Given the description of an element on the screen output the (x, y) to click on. 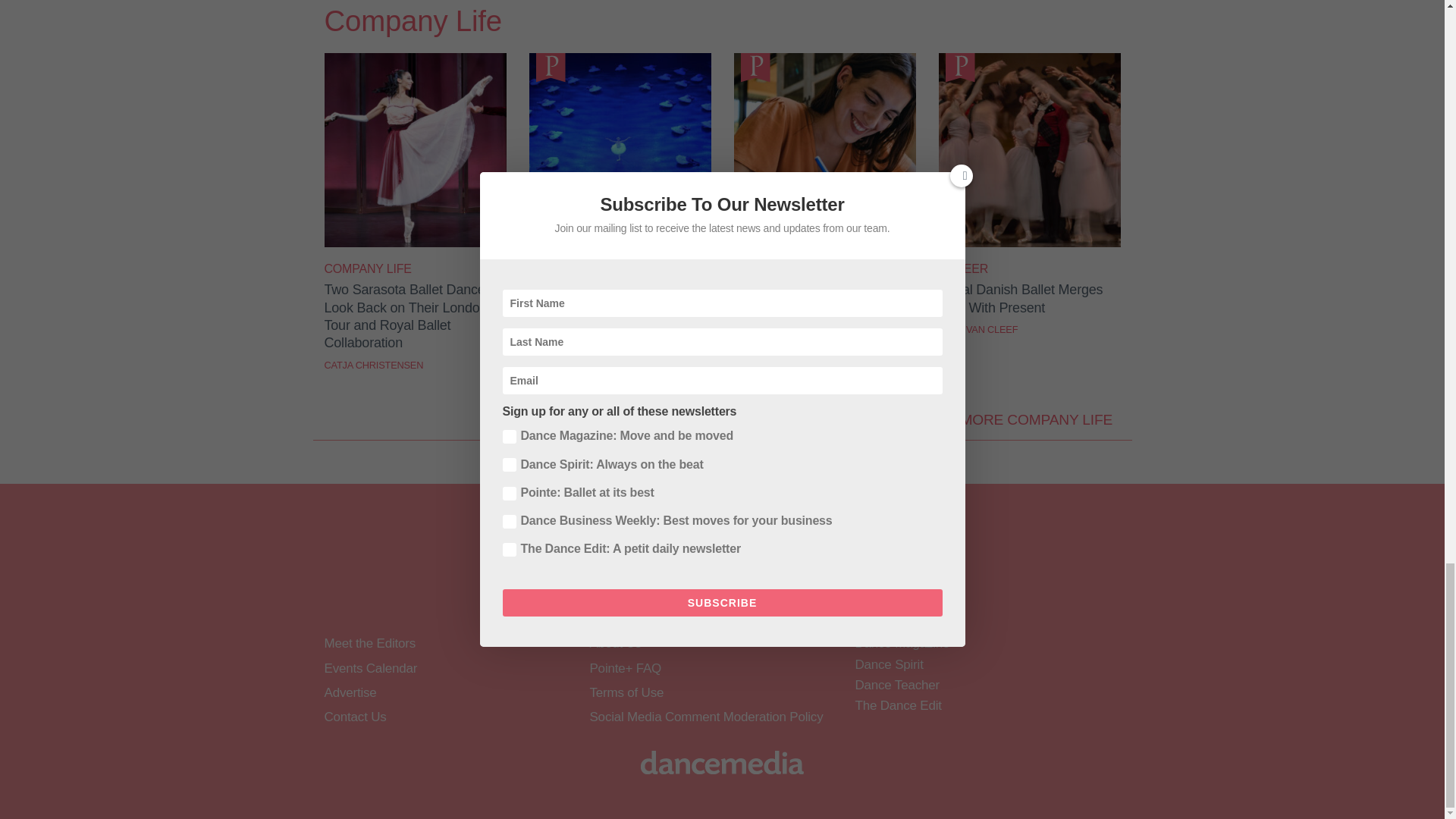
Follow on Youtube (741, 600)
Follow on Twitter (662, 600)
Follow on Facebook (623, 600)
Royal Danish Ballet Merges Past With Present (1030, 242)
Follow on Pinterest (780, 600)
Follow on Instagram (702, 600)
